Given the description of an element on the screen output the (x, y) to click on. 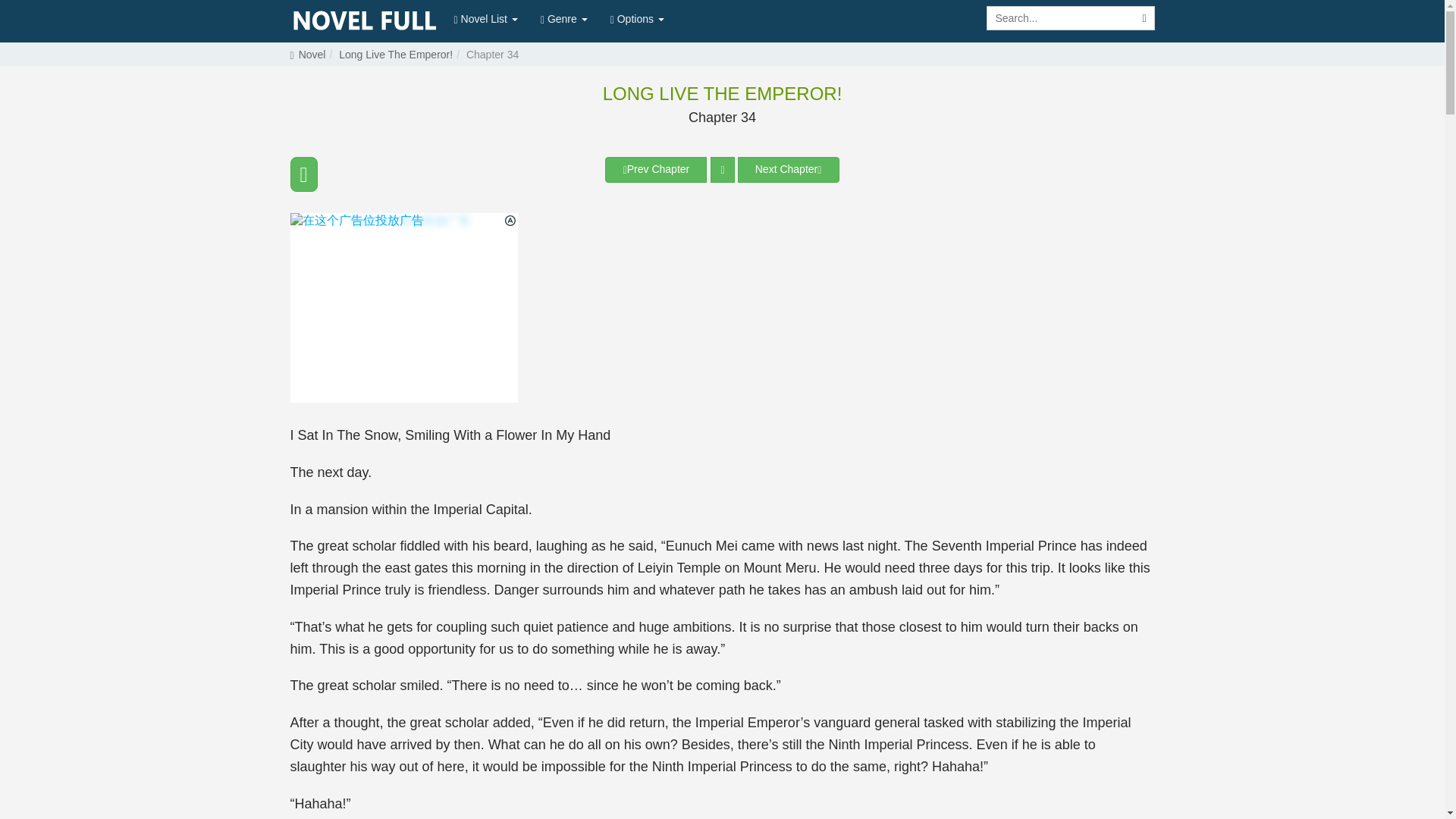
Genre (563, 18)
Novel List (485, 18)
Read novel online (363, 21)
